Given the description of an element on the screen output the (x, y) to click on. 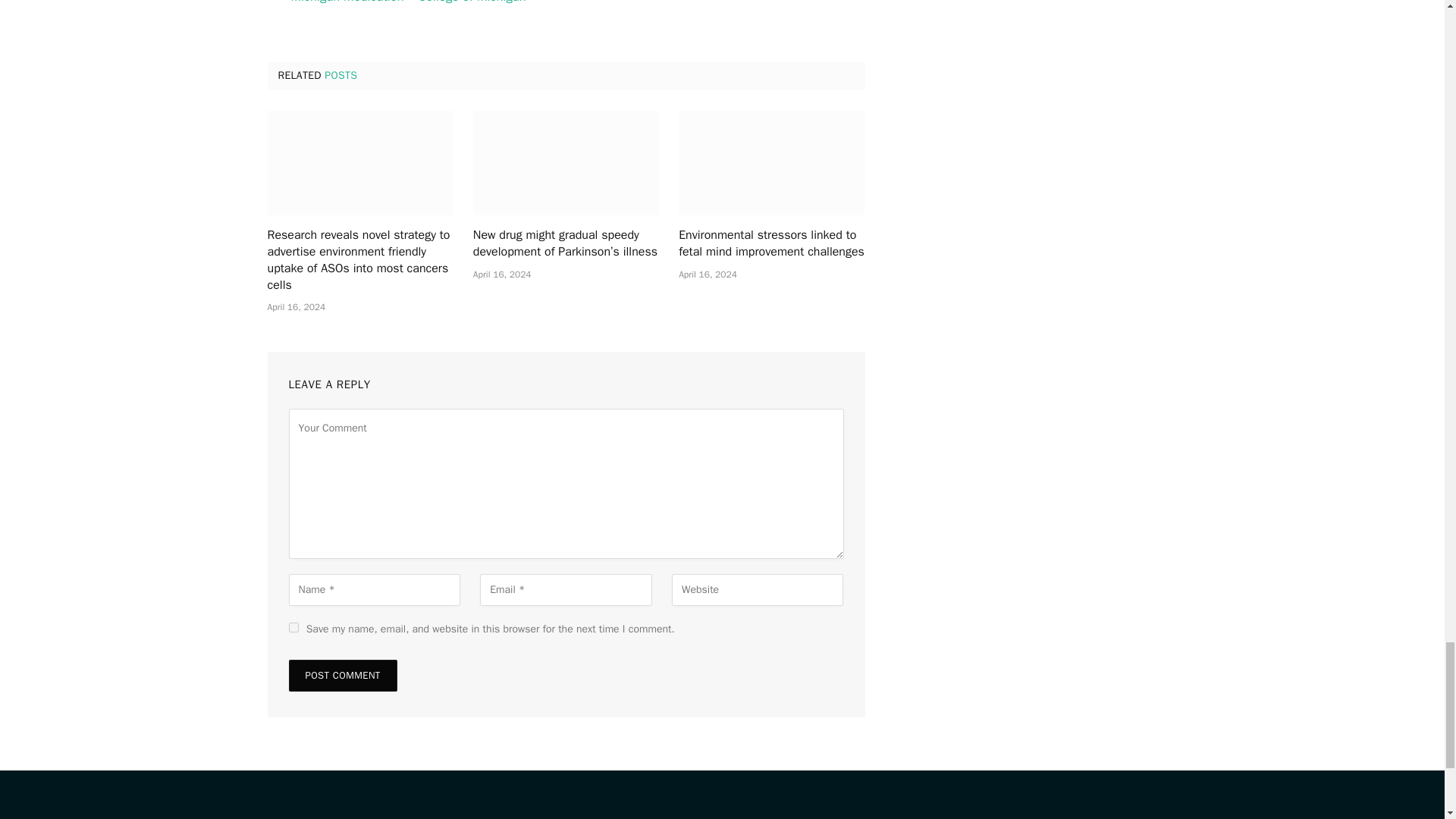
Post Comment (342, 675)
yes (293, 627)
